Given the description of an element on the screen output the (x, y) to click on. 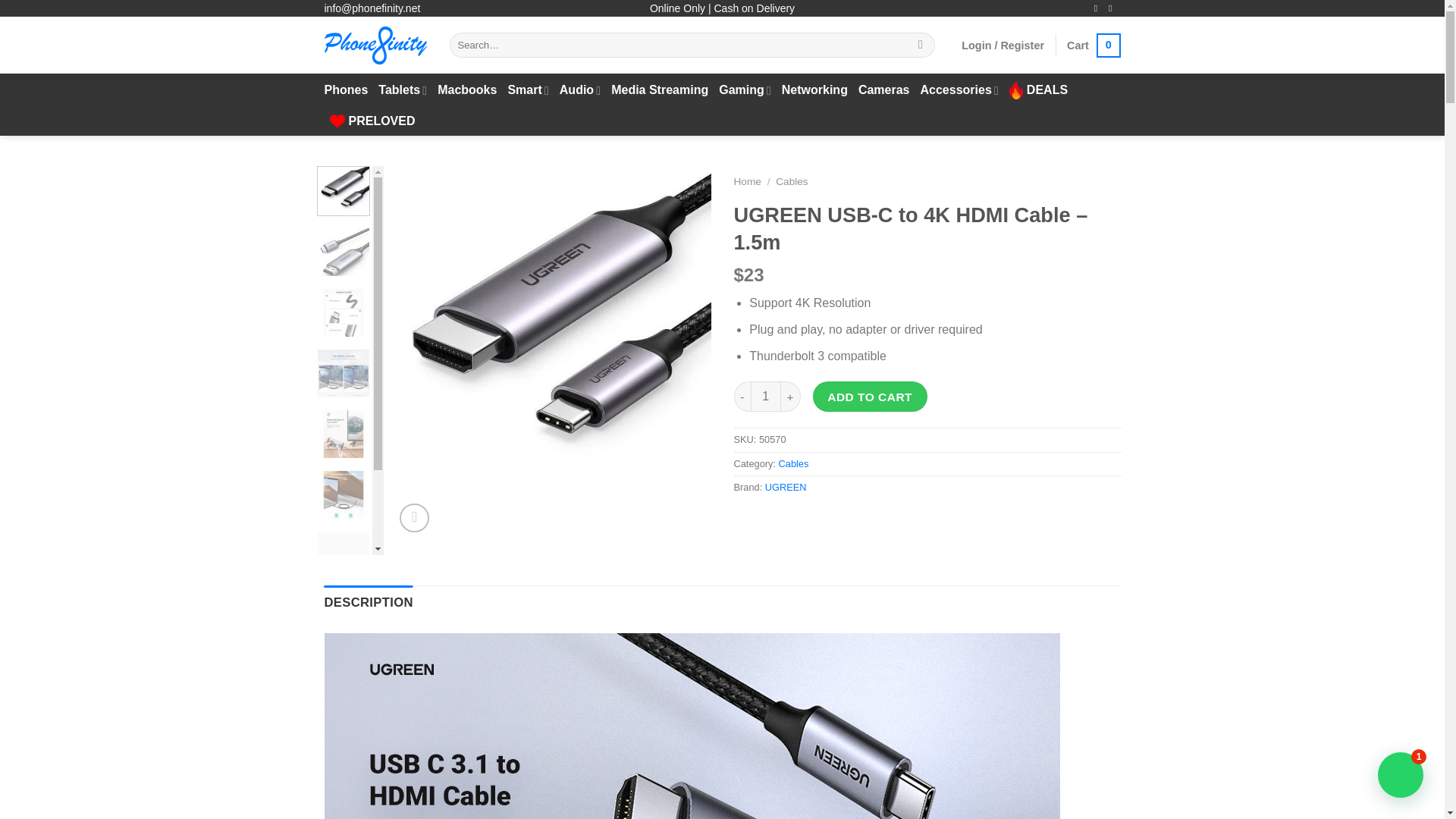
Tablets (402, 90)
Search (920, 45)
Audio (579, 90)
Zoom (413, 518)
Accessories (959, 90)
Smart (527, 90)
Login (1001, 44)
Macbooks (467, 90)
DEALS (1038, 90)
Gaming (745, 90)
1 (765, 396)
Phones (346, 90)
Networking (1093, 44)
